Given the description of an element on the screen output the (x, y) to click on. 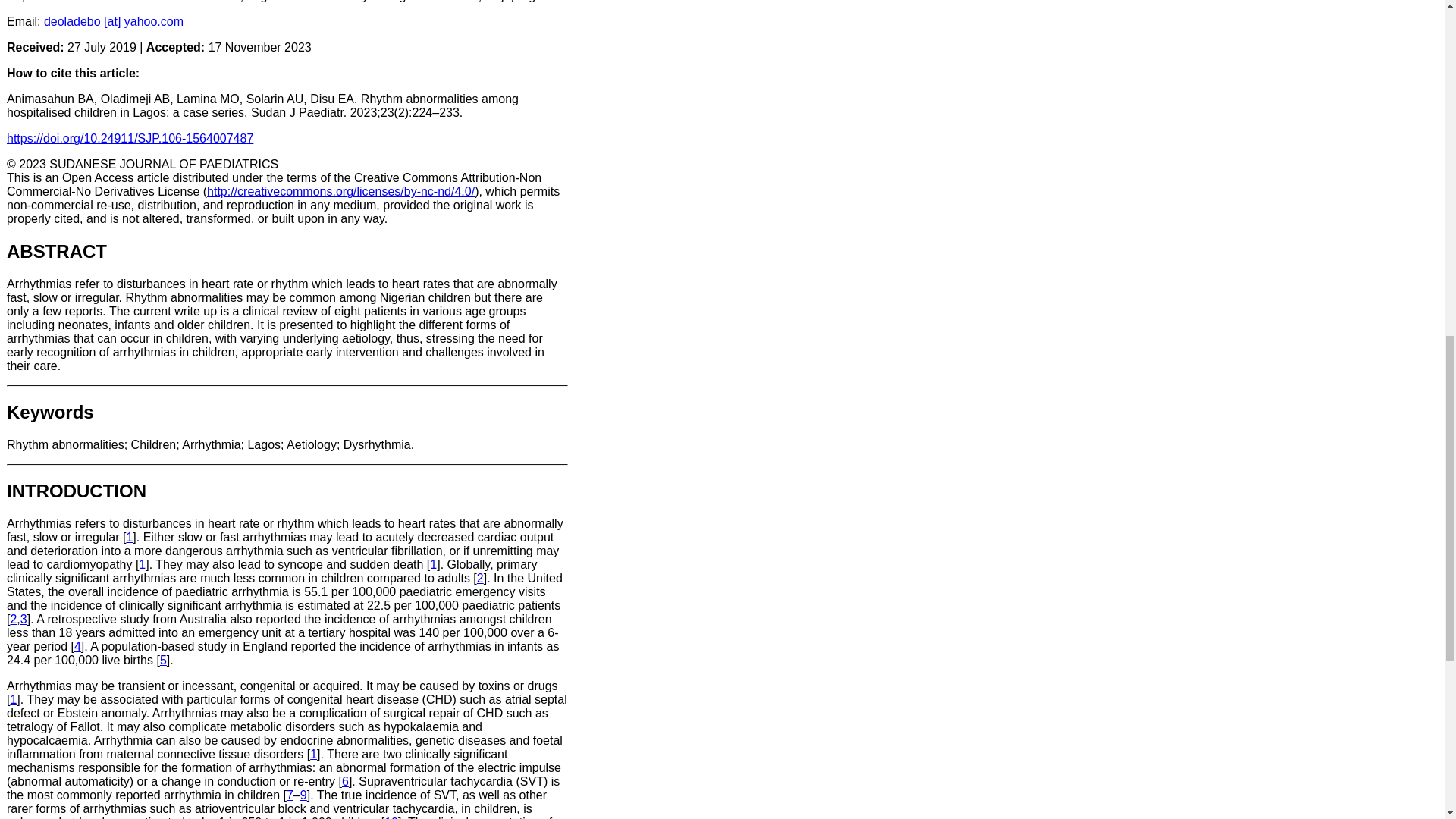
4 (77, 645)
2 (480, 577)
5 (163, 659)
2 (13, 618)
1 (432, 563)
1 (128, 536)
3 (23, 618)
1 (141, 563)
